Given the description of an element on the screen output the (x, y) to click on. 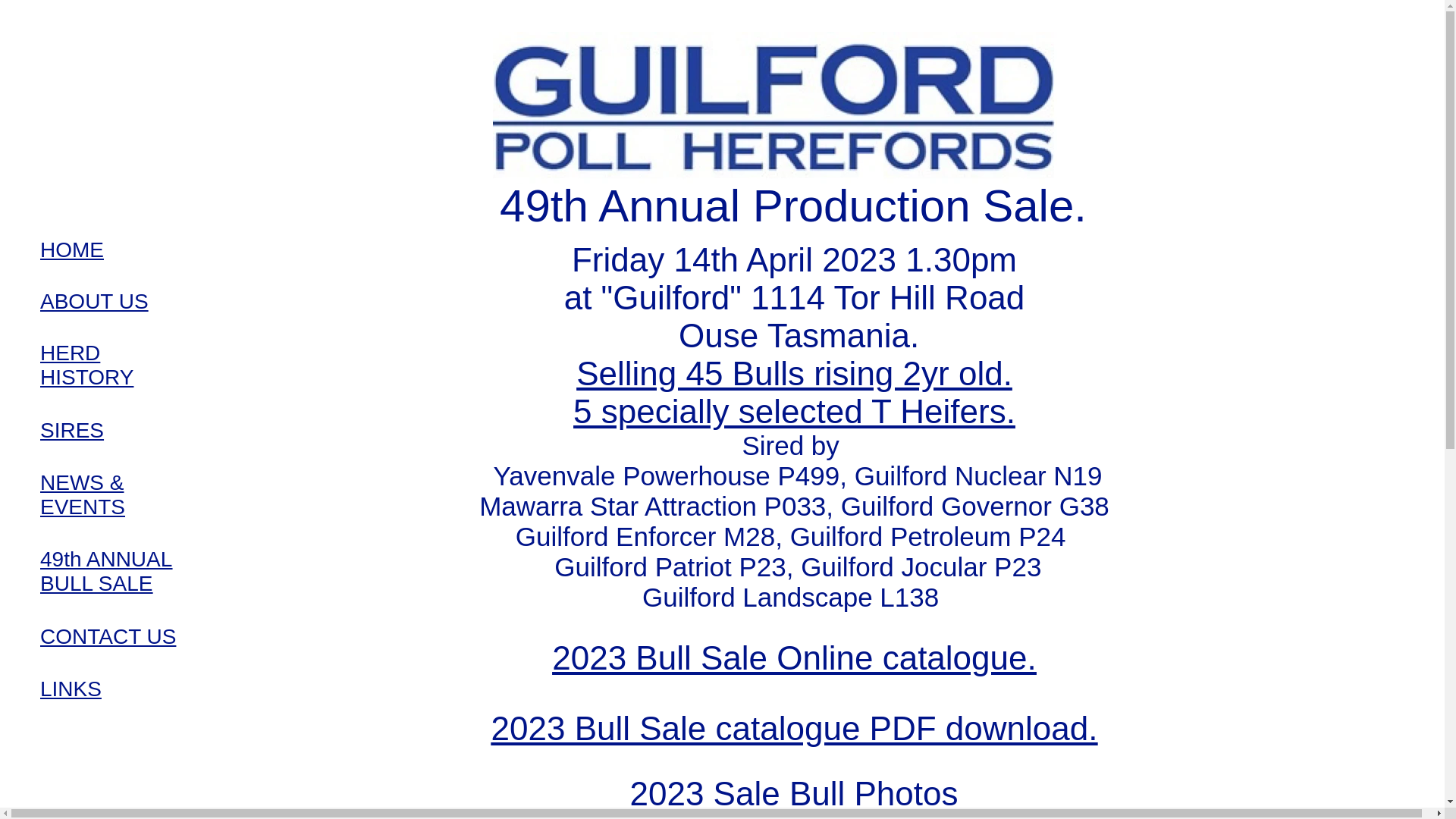
SIRES Element type: text (71, 430)
49th ANNUAL BULL SALE Element type: text (106, 571)
2023 Sale Bull Photos Element type: text (793, 793)
HOME Element type: text (71, 249)
2023 Bull Sale catalogue PDF download. Element type: text (794, 727)
2023 Bull Sale Online catalogue. Element type: text (793, 657)
